Given the description of an element on the screen output the (x, y) to click on. 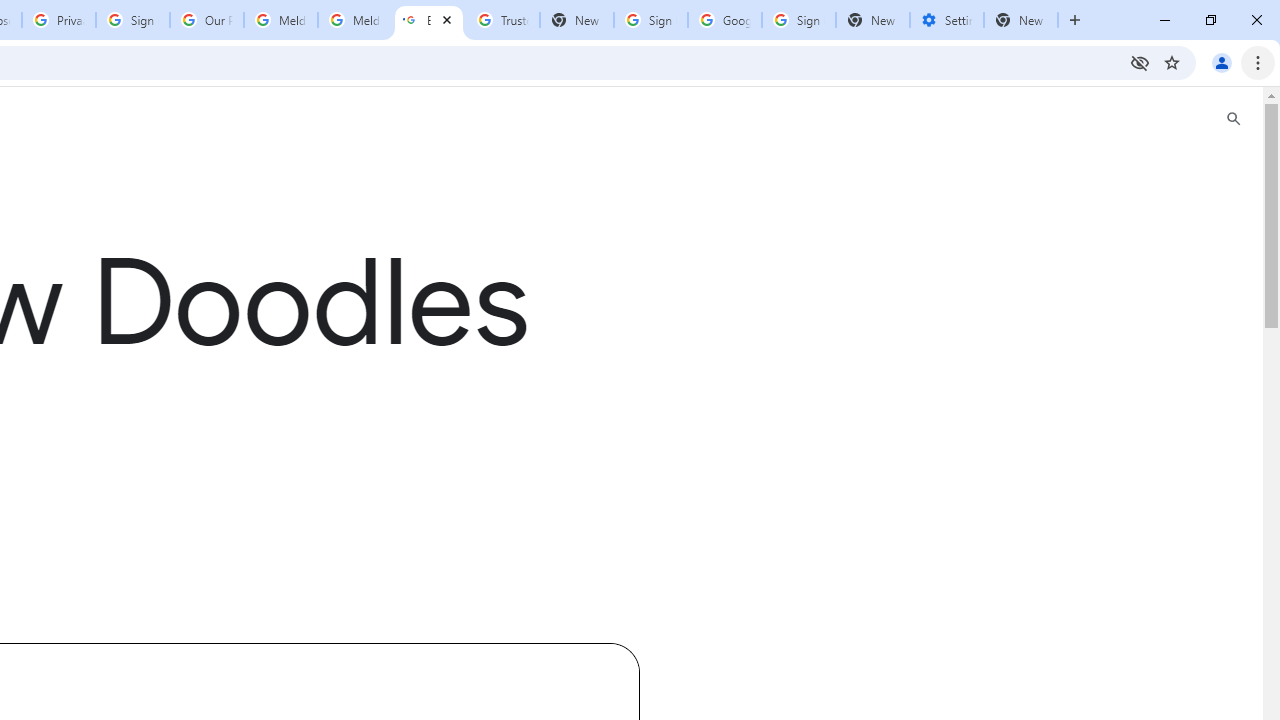
Explore the Process of Creating a Doodle - Google Doodles (428, 20)
Sign in - Google Accounts (133, 20)
New Tab (1021, 20)
Sign in - Google Accounts (798, 20)
